Given the description of an element on the screen output the (x, y) to click on. 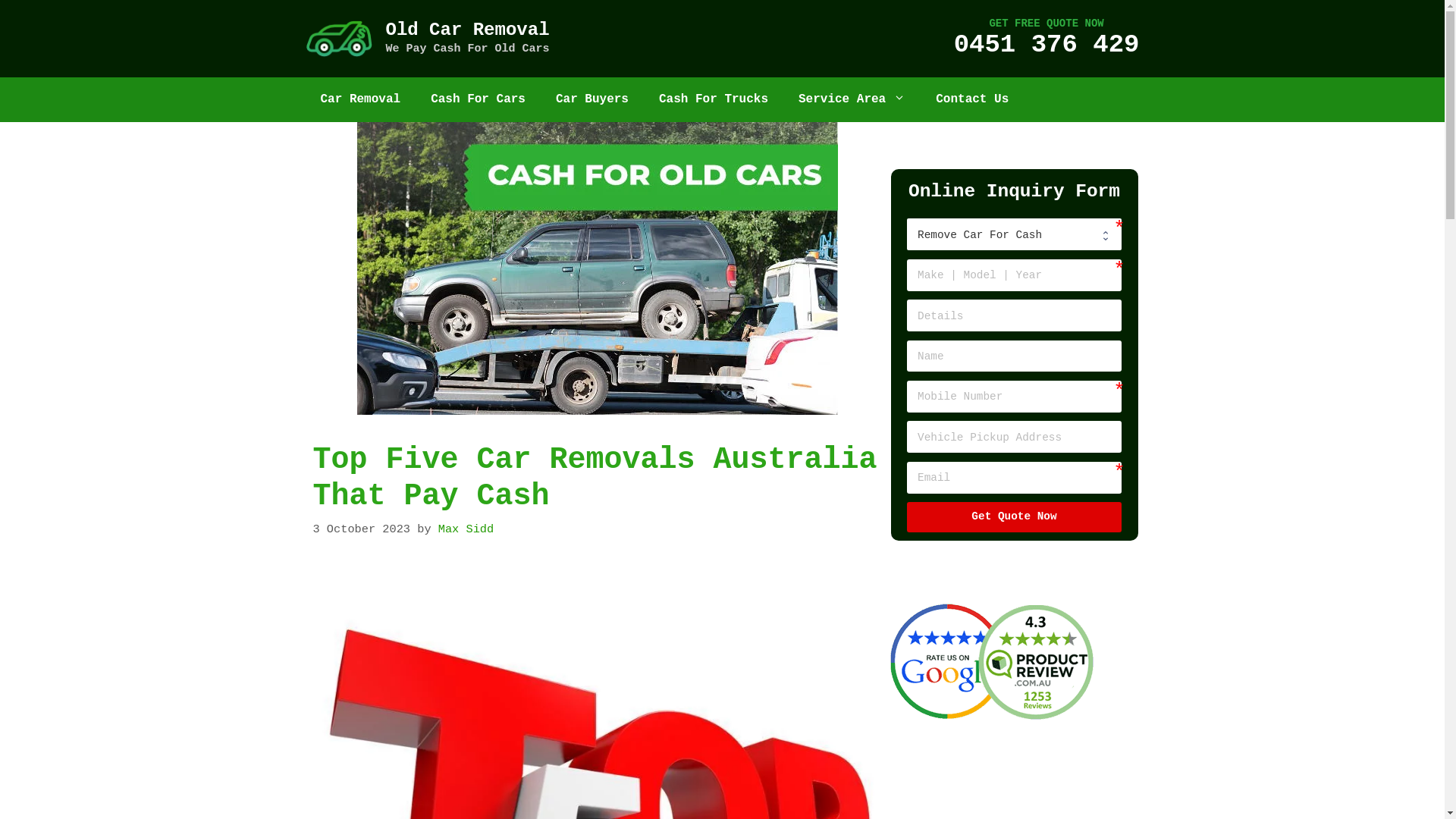
Get Quote Now Element type: text (1013, 517)
Cash For Cars Element type: text (477, 99)
Cash For Trucks Element type: text (713, 99)
Car Buyers Element type: text (591, 99)
Car Removal Element type: text (359, 99)
0451 376 429 Element type: text (1046, 44)
Max Sidd Element type: text (465, 529)
Contact Us Element type: text (971, 99)
Old Car Removal Element type: text (467, 29)
Service Area Element type: text (851, 99)
